Given the description of an element on the screen output the (x, y) to click on. 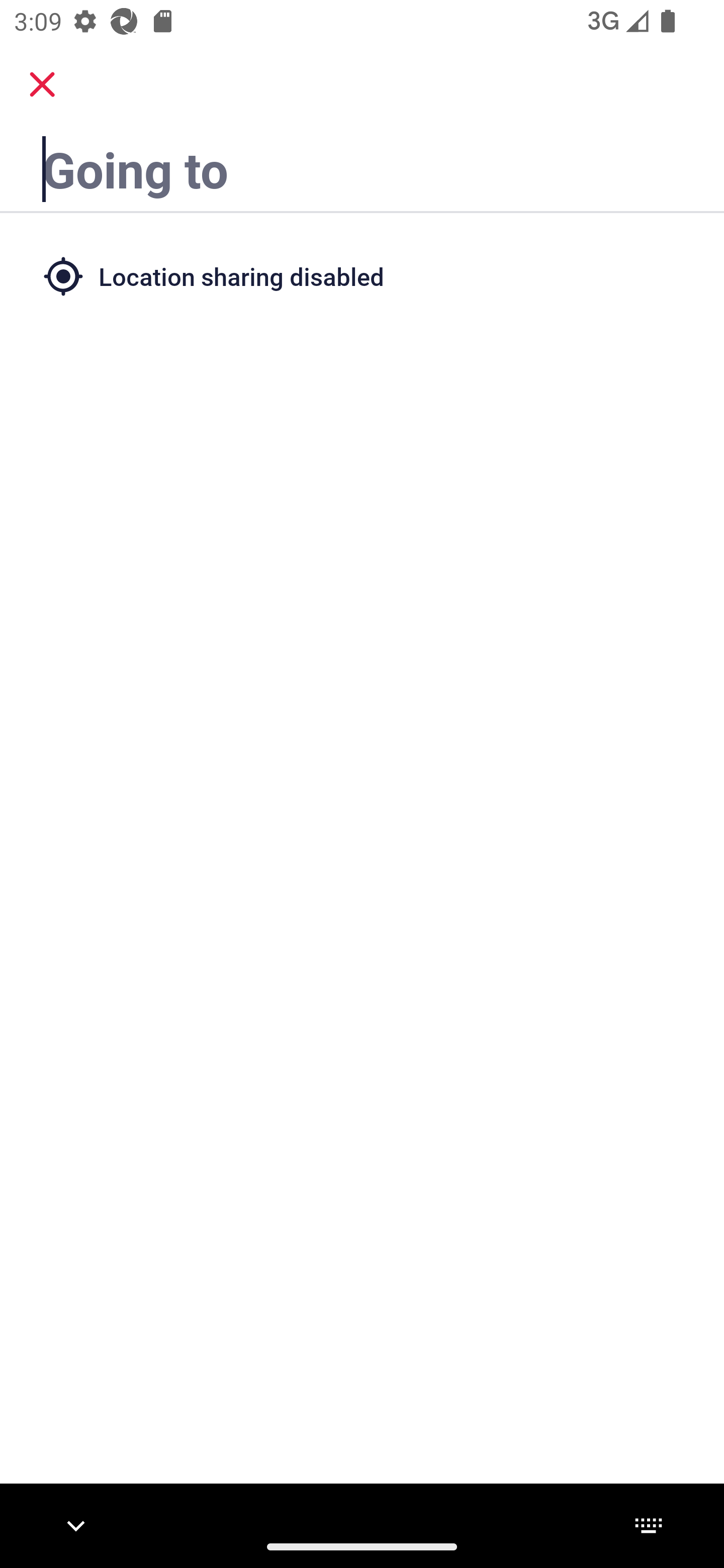
close. (42, 84)
Location sharing disabled (362, 275)
